Given the description of an element on the screen output the (x, y) to click on. 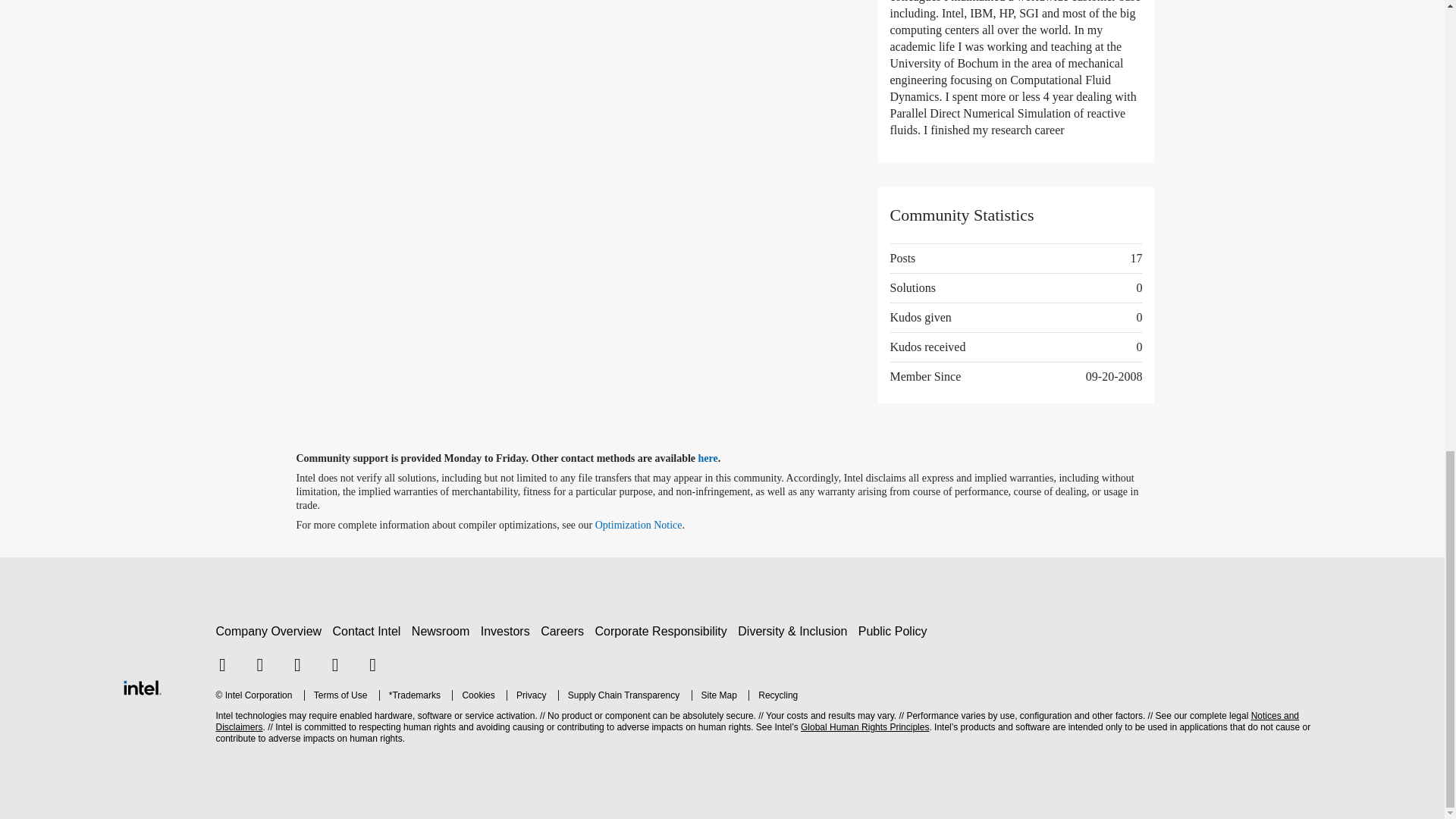
Intel Footer Logo (141, 686)
